Given the description of an element on the screen output the (x, y) to click on. 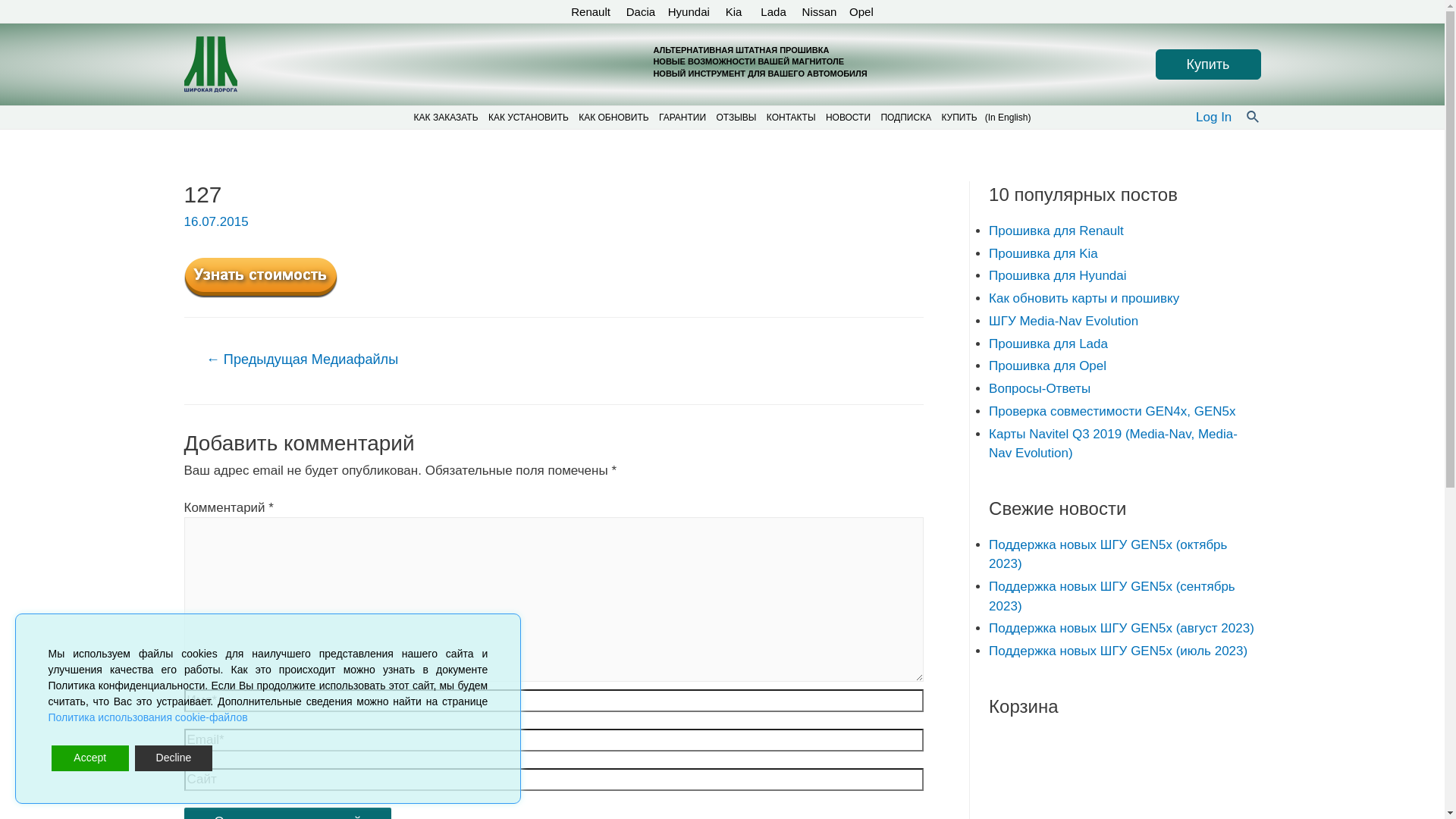
(In English) Element type: text (1008, 117)
Kia  Element type: text (735, 10)
Log In Element type: text (1213, 117)
Lada Element type: text (772, 10)
Renault Element type: text (592, 10)
Accept Element type: text (89, 758)
Opel Element type: text (861, 10)
Decline Element type: text (173, 758)
 Nissan Element type: text (817, 10)
Hyundai  Element type: text (690, 10)
Dacia Element type: text (640, 10)
